Given the description of an element on the screen output the (x, y) to click on. 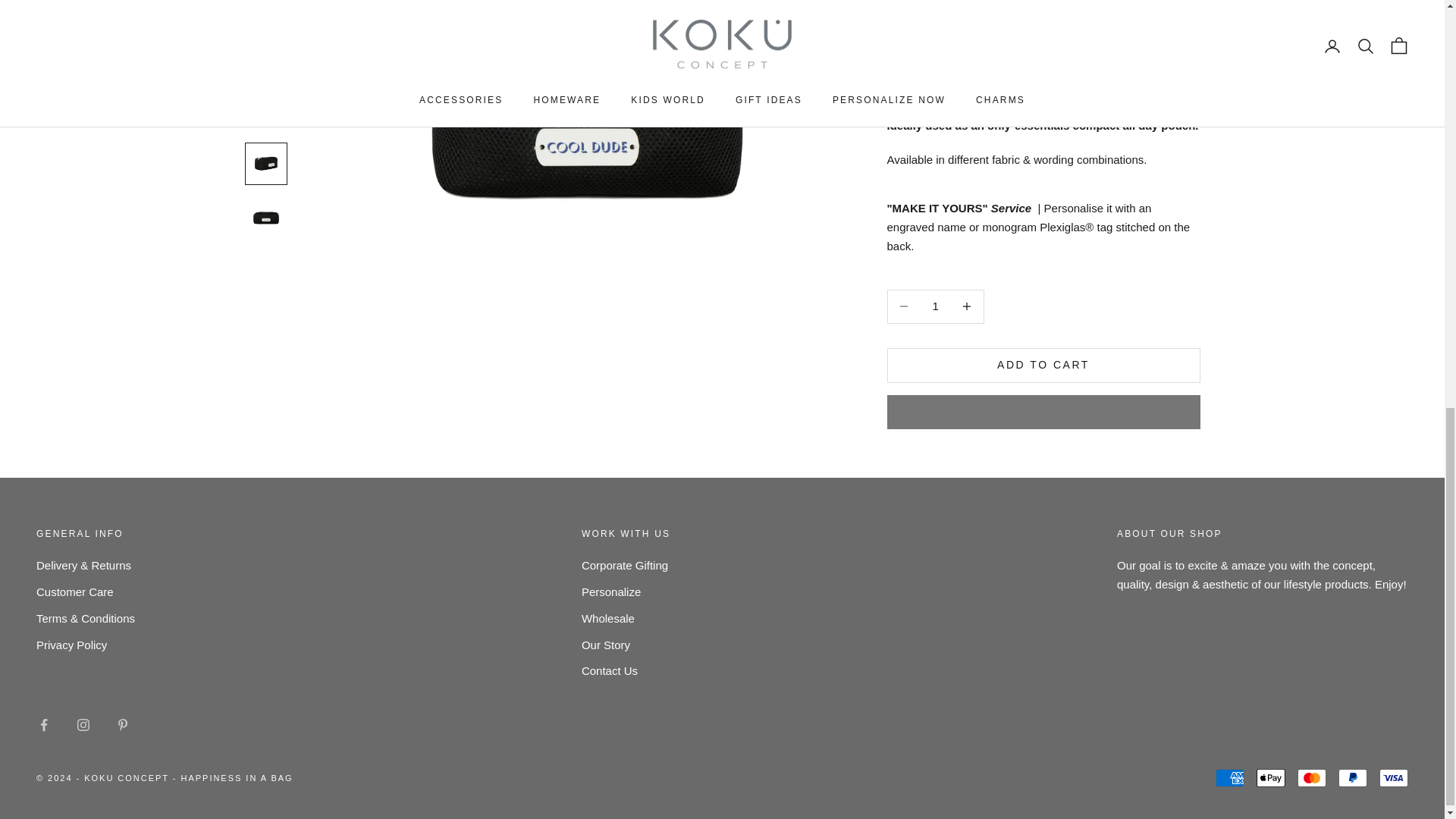
1 (935, 41)
